Given the description of an element on the screen output the (x, y) to click on. 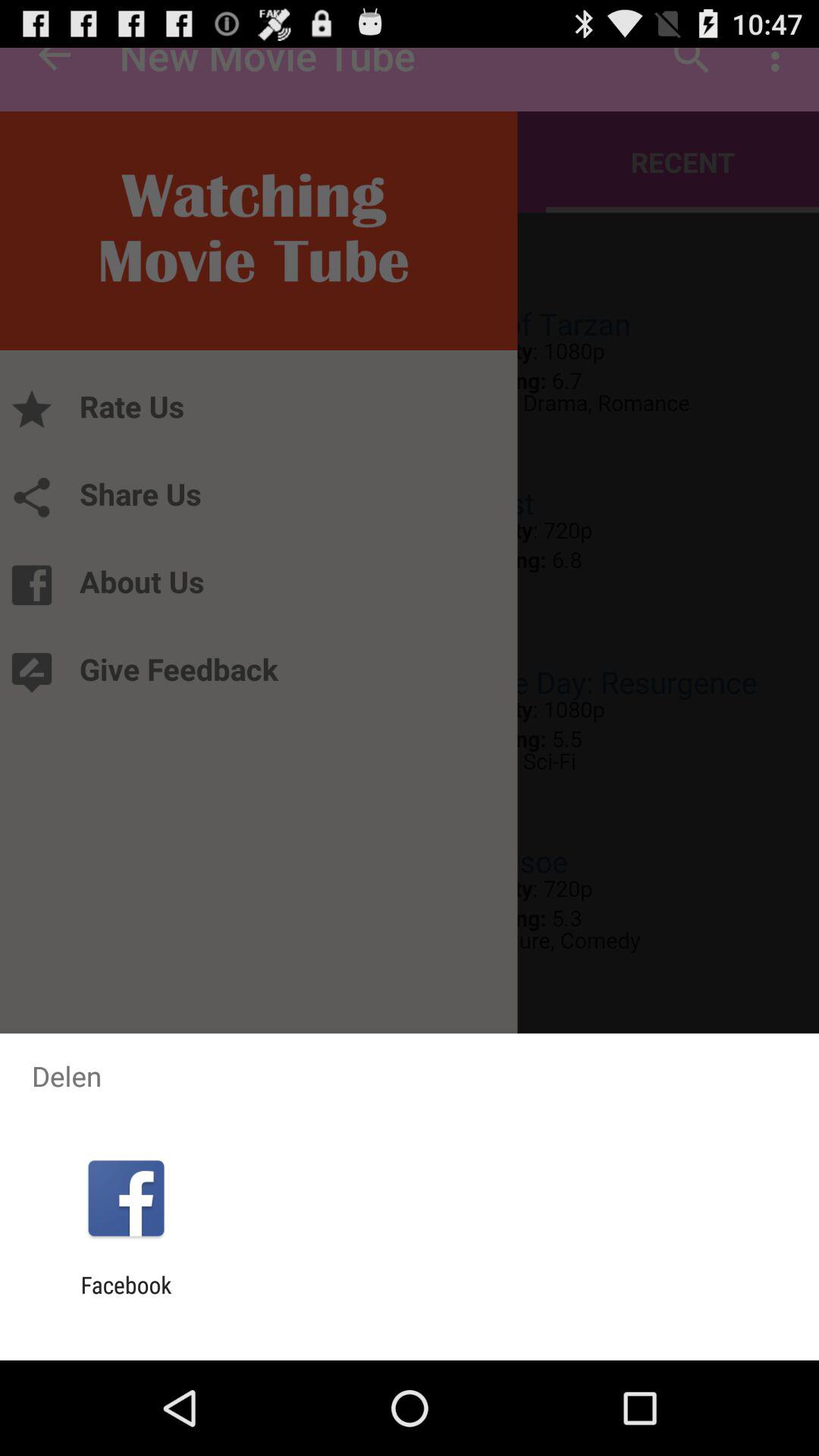
flip until facebook item (125, 1298)
